Given the description of an element on the screen output the (x, y) to click on. 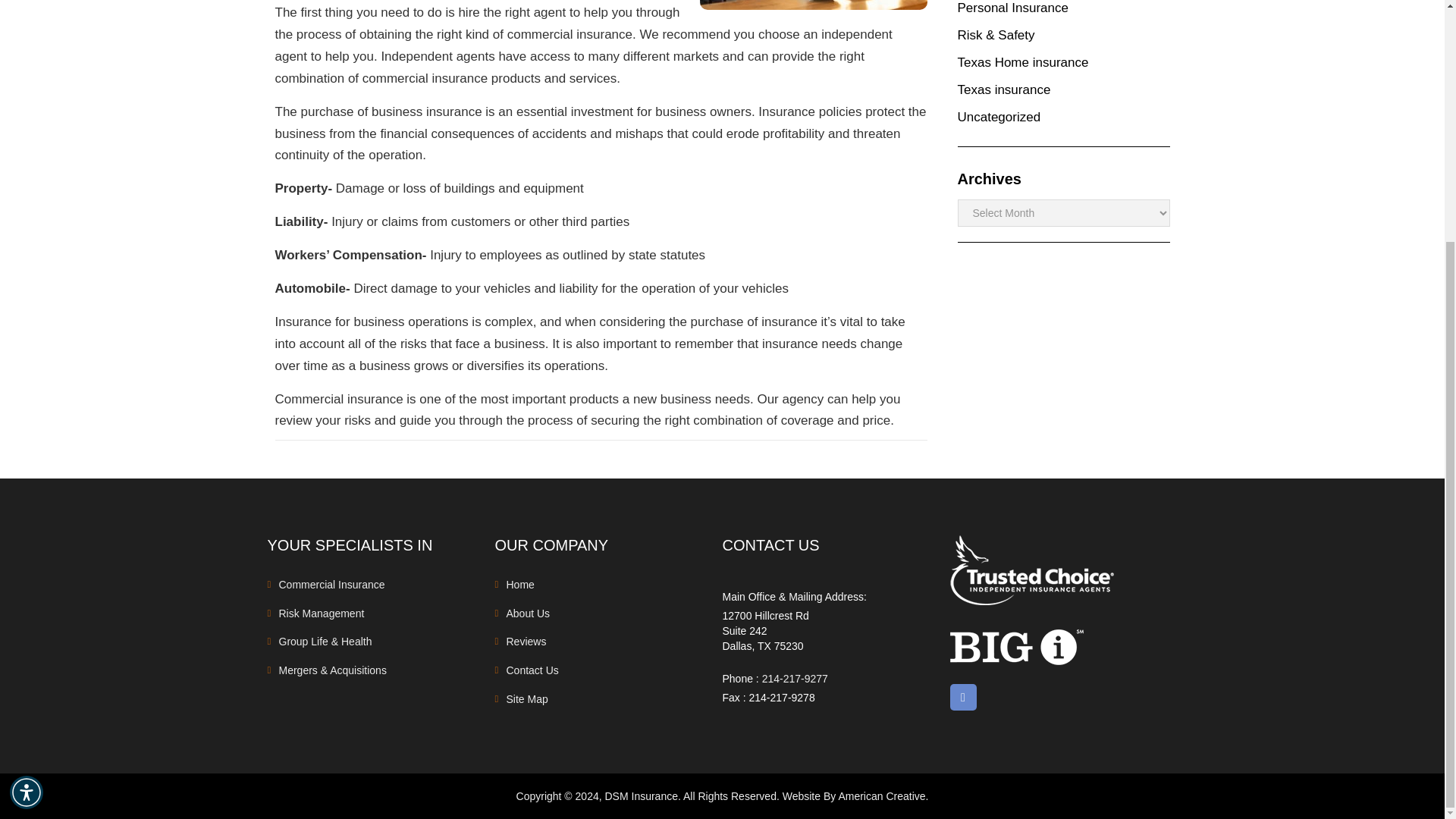
Facebook (962, 696)
Contact Us (532, 670)
Commercial Insurance (332, 584)
Risk Management (322, 613)
Website By American Creative (854, 796)
Site Map (527, 698)
Home (520, 584)
Accessibility Menu (26, 458)
Personal Insurance (1011, 7)
Texas insurance (1002, 89)
214-217-9277 (794, 678)
About Us (528, 613)
Texas Home insurance (1021, 62)
Reviews (526, 641)
Uncategorized (998, 116)
